Given the description of an element on the screen output the (x, y) to click on. 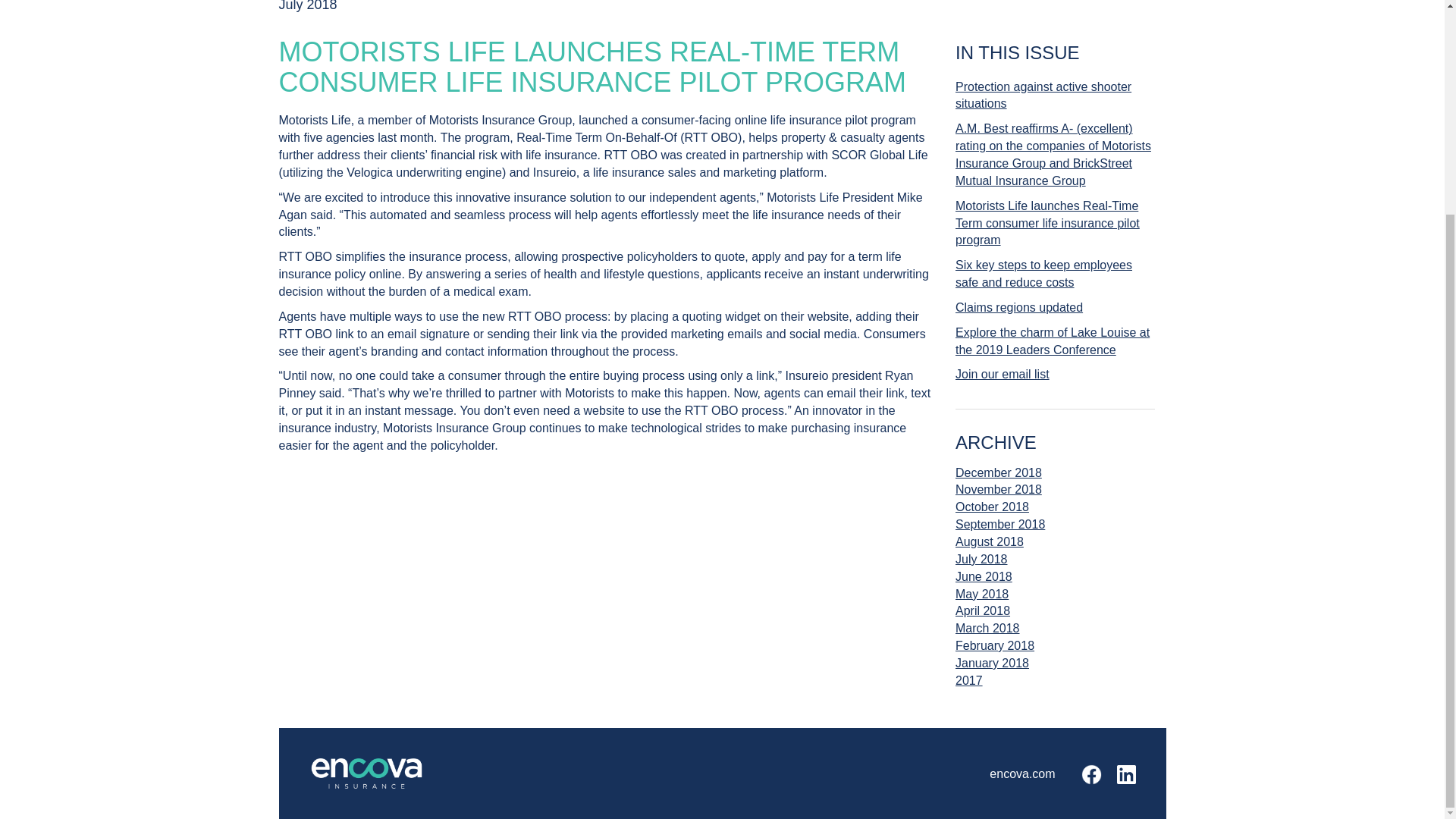
January 2018 (992, 662)
August 2018 (1000, 550)
July 2018 (989, 567)
Protection against active shooter situations (1054, 96)
December 2018 (998, 472)
November 2018 (998, 497)
September 2018 (1000, 533)
March 2018 (987, 637)
April 2018 (982, 619)
May 2018 (983, 602)
Six key steps to keep employees safe and reduce costs (1054, 274)
encova.com (1022, 772)
Join our email list (1054, 374)
2017 (968, 680)
